Given the description of an element on the screen output the (x, y) to click on. 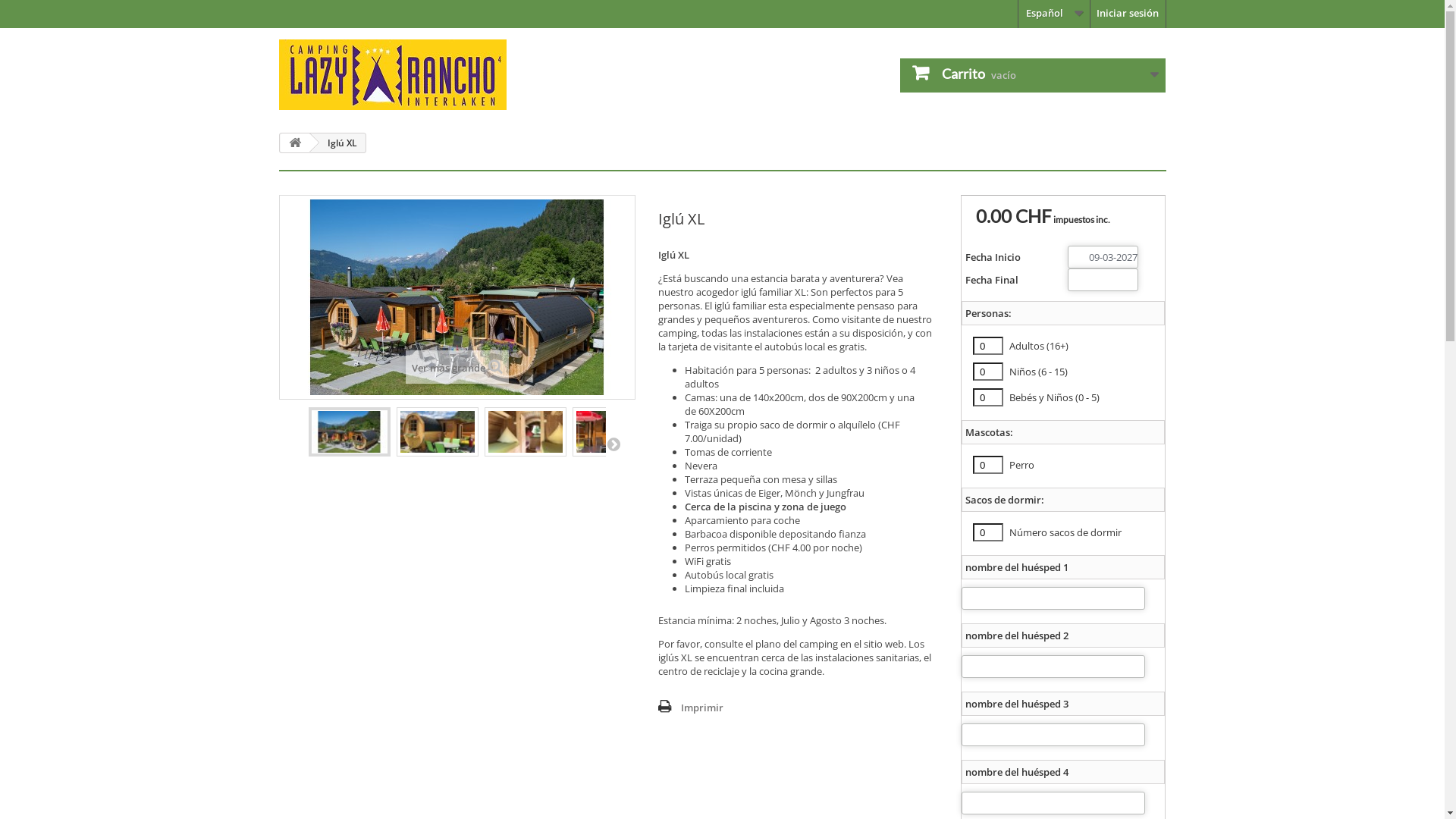
Iglu familiar XL Element type: hover (524, 431)
Iglu familiar XL Element type: hover (349, 431)
Onlinebooking Camping Lazy Rancho Unterseen Element type: hover (419, 74)
Iglu familiar XL Element type: hover (456, 297)
Iglu familiar XL Element type: hover (612, 431)
Iglu familiar XL Element type: hover (348, 431)
Iglu familiar XL Element type: hover (613, 431)
Iglu familiar XL Element type: hover (436, 431)
Iglu familiar XL Element type: hover (437, 431)
Volver a Inicio Element type: hover (294, 142)
Iglu familiar XL Element type: hover (525, 431)
Imprimir Element type: text (690, 707)
Siguiente Element type: text (612, 443)
